Given the description of an element on the screen output the (x, y) to click on. 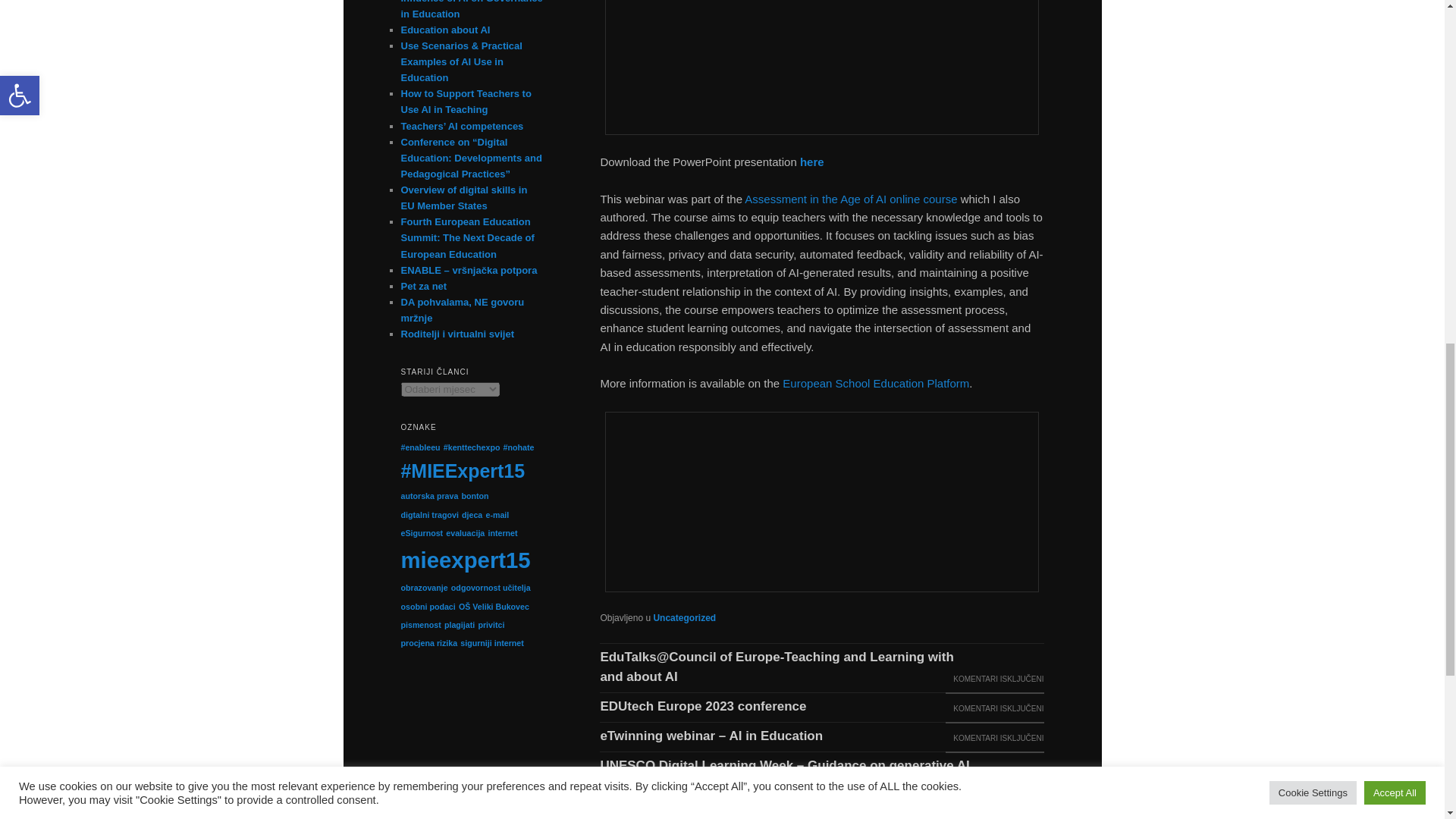
Uncategorized (684, 617)
European School Education Platform (876, 382)
here (811, 161)
Assessment in the Age of AI online course (850, 198)
EDUtech Europe 2023 conference (704, 707)
Learning journey for, about, and with AI (721, 812)
